Given the description of an element on the screen output the (x, y) to click on. 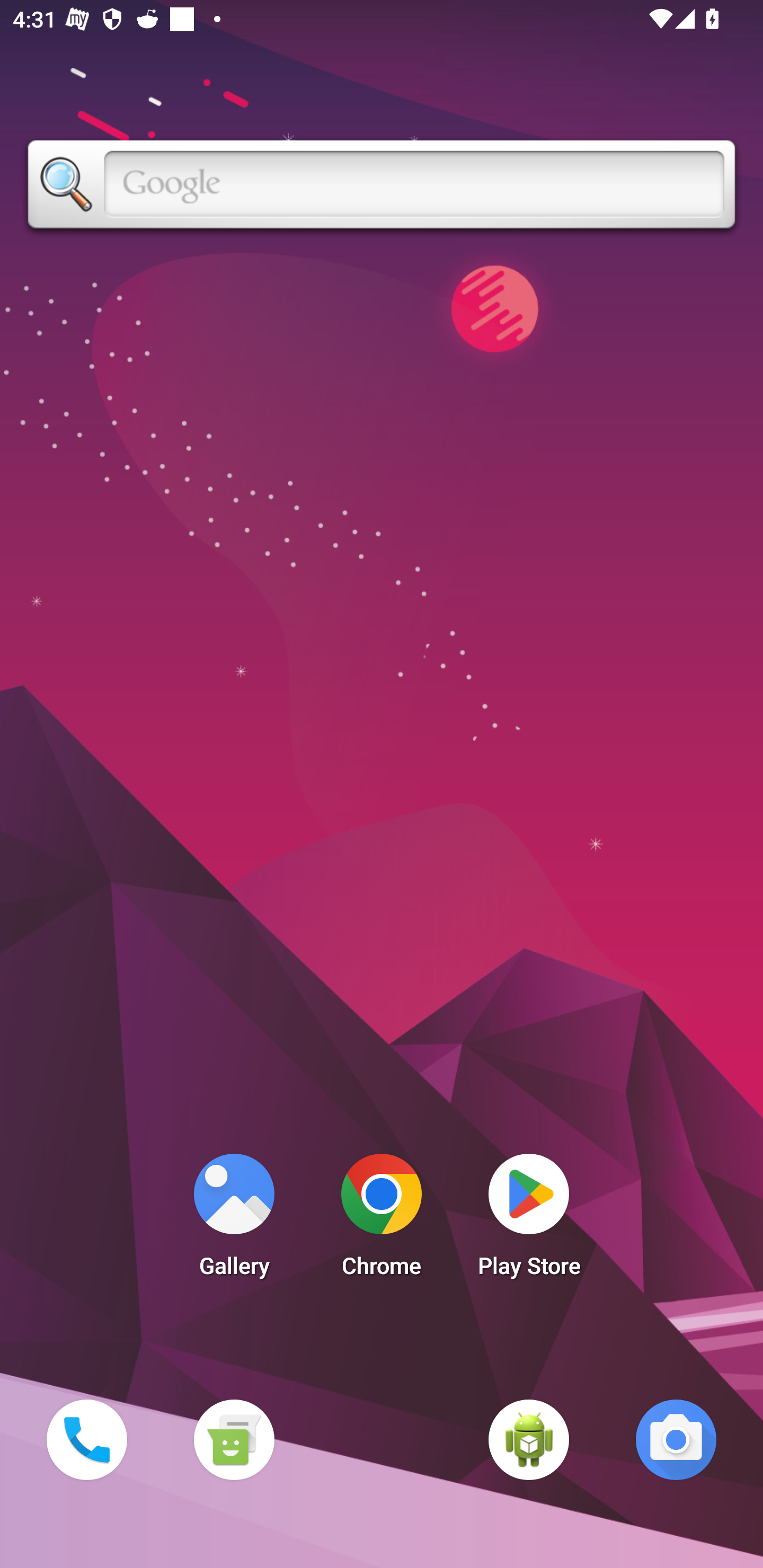
Gallery (233, 1220)
Chrome (381, 1220)
Play Store (528, 1220)
Phone (86, 1439)
Messaging (233, 1439)
WebView Browser Tester (528, 1439)
Camera (676, 1439)
